Given the description of an element on the screen output the (x, y) to click on. 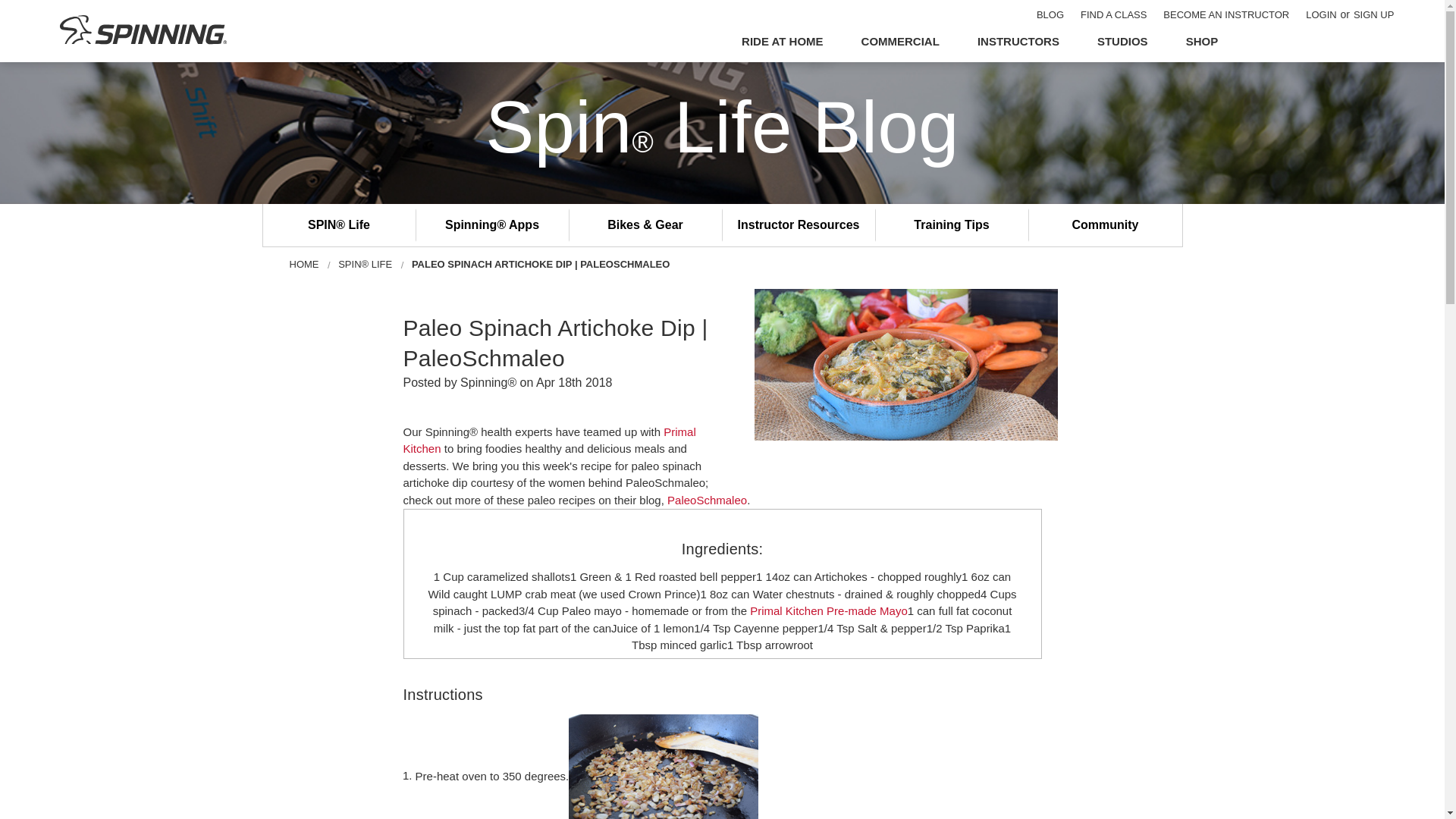
PaleoSchmaleo Blog (706, 499)
Primal Kitchen Paleo Mayo (828, 610)
Primal Kitchen (549, 440)
